Given the description of an element on the screen output the (x, y) to click on. 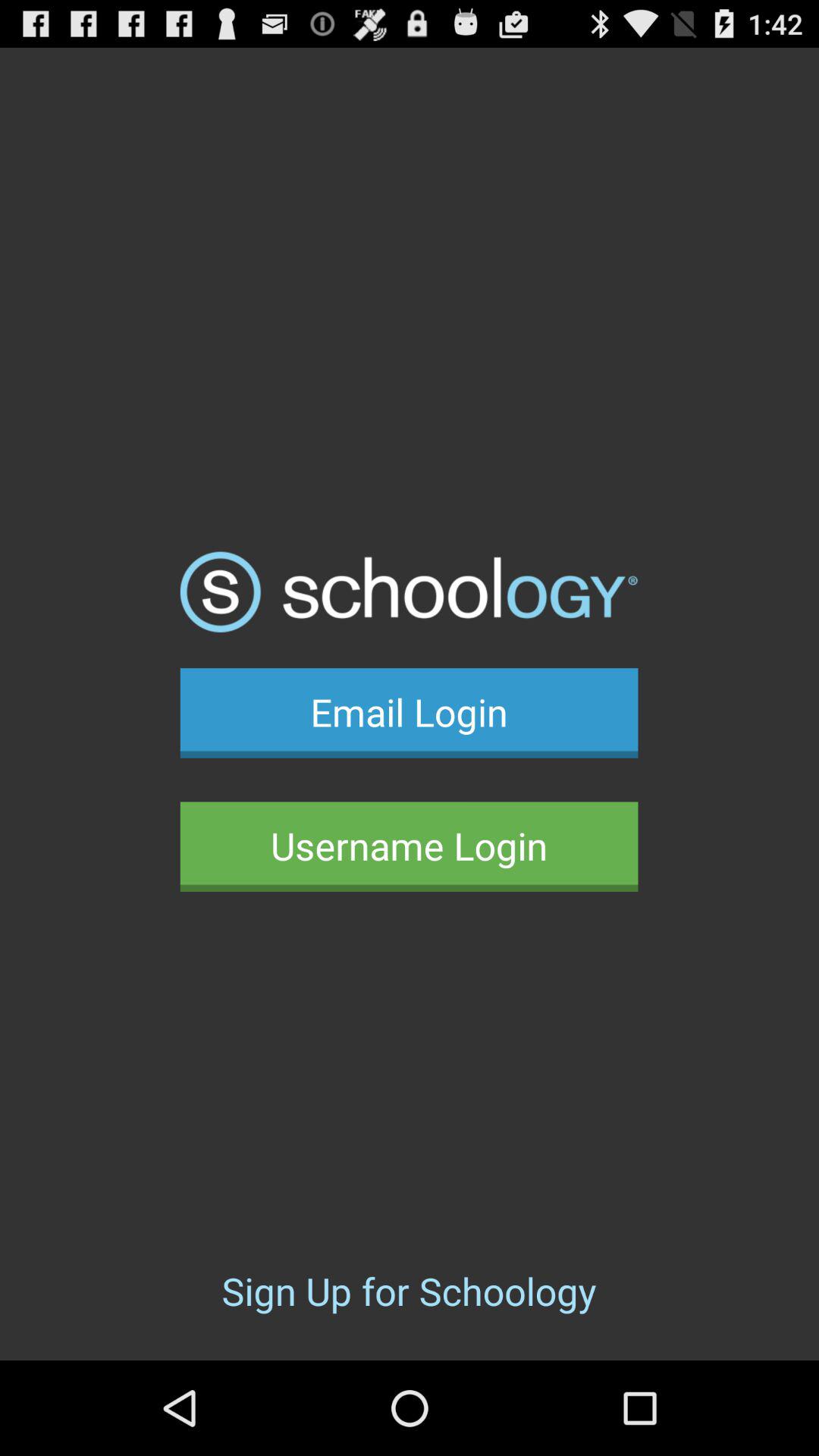
select the icon below the email login item (409, 846)
